Given the description of an element on the screen output the (x, y) to click on. 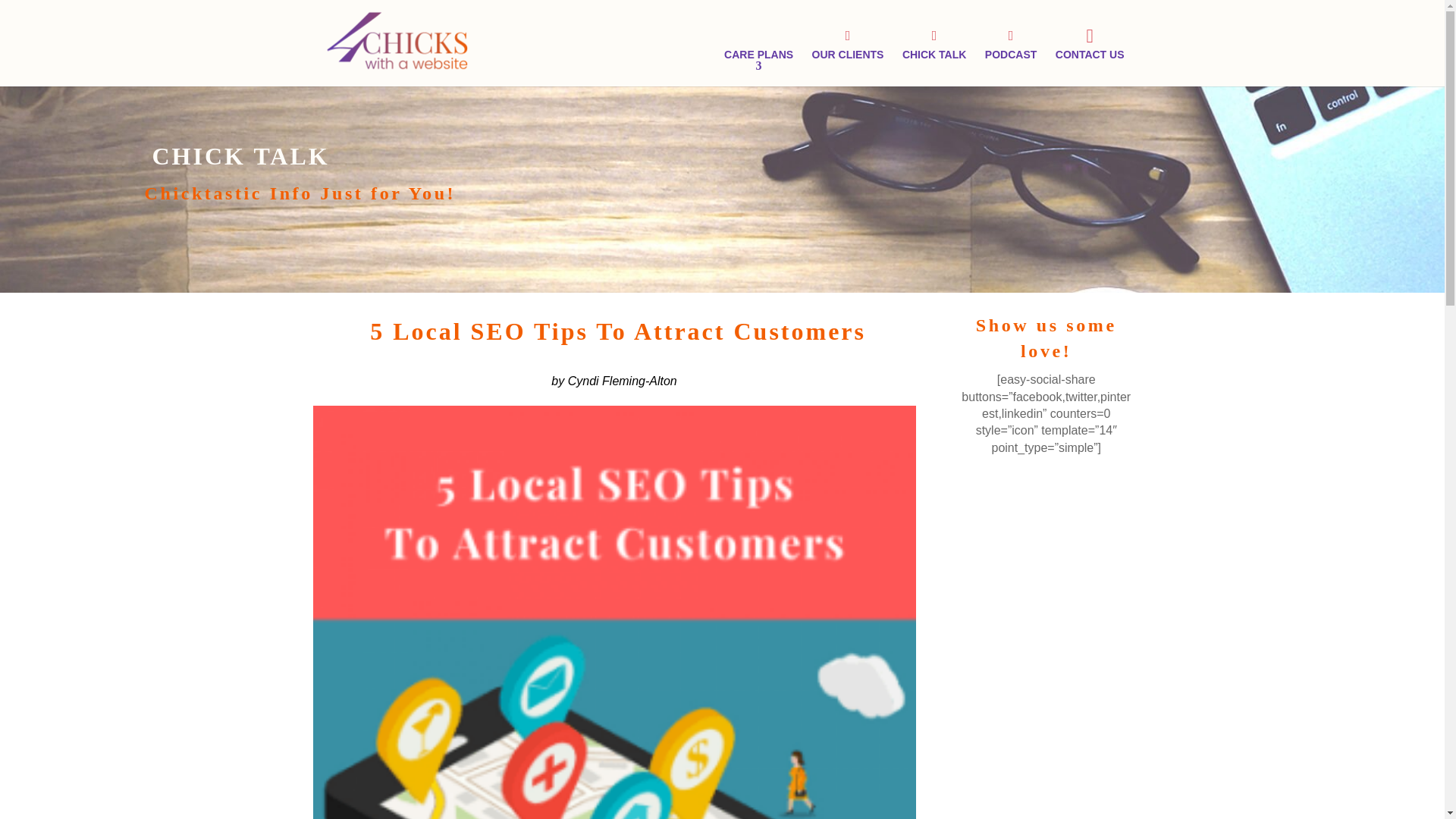
PODCAST (1009, 44)
CARE PLANS (758, 54)
CONTACT US (1090, 43)
Cyndi Fleming-Alton (622, 380)
Posts by Cyndi Fleming-Alton (622, 380)
OUR CLIENTS (848, 44)
CHICK TALK (934, 44)
